Given the description of an element on the screen output the (x, y) to click on. 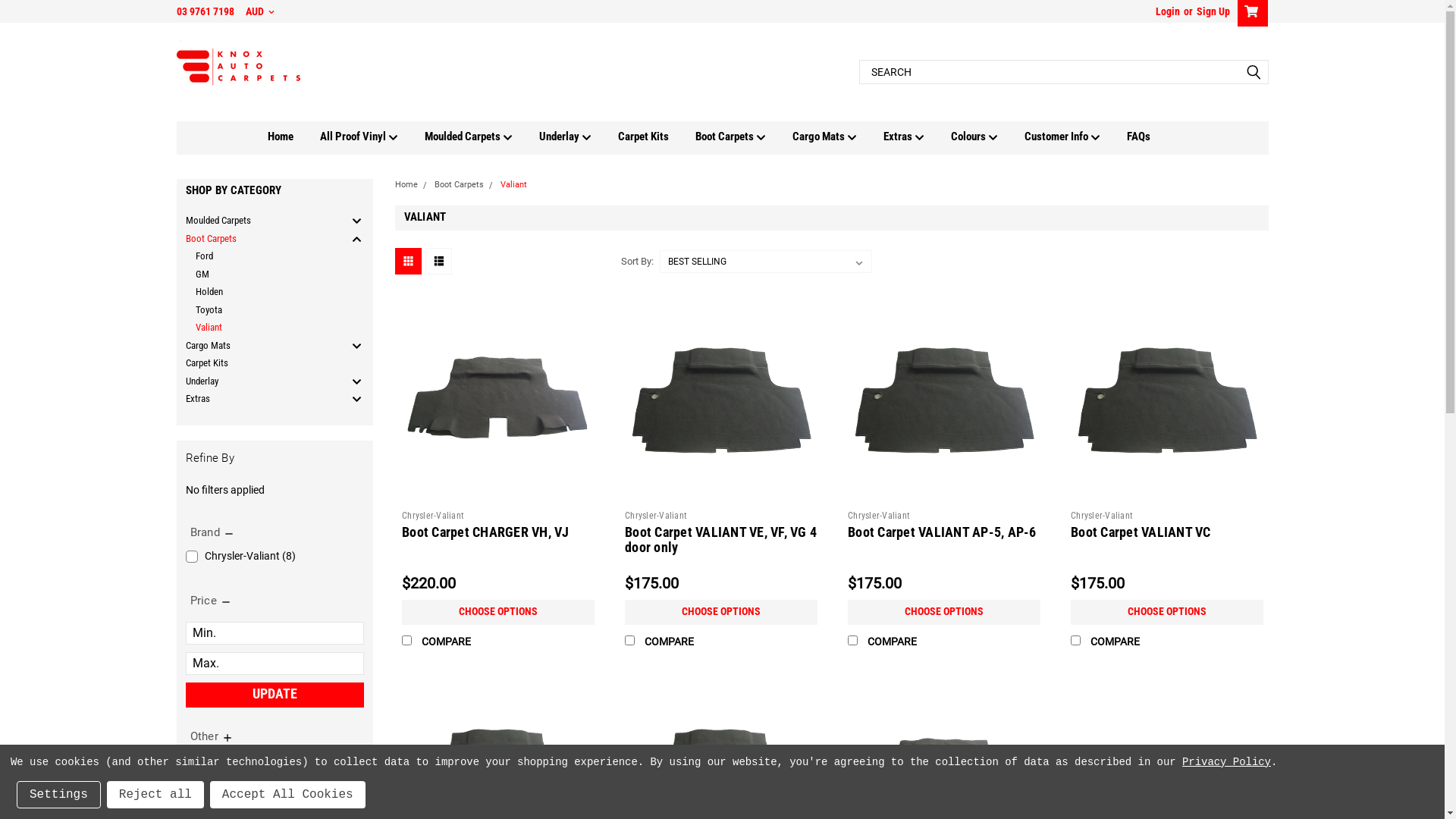
Chrysler-Valiant Element type: text (1101, 514)
Cargo Mats Element type: text (837, 136)
Valiant Element type: text (513, 184)
Privacy Policy Element type: text (1226, 762)
Chrysler-Valiant Element type: text (432, 514)
Boot Carpet CHARGER VH, VJ Element type: hover (498, 399)
Accept All Cookies Element type: text (287, 794)
Home Element type: text (293, 136)
Chrysler-Valiant (8) Element type: text (274, 556)
Ford Element type: text (258, 256)
Price Element type: text (210, 600)
Customer Info Element type: text (1075, 136)
Boot Carpets Element type: text (258, 238)
Boot Carpet VALIANT VH VK & VJ Element type: hover (1167, 780)
Boot Carpet VALIANT AP-5, AP-6 Element type: text (941, 531)
Boot Carpet VALIANT VE, VF, VG 4 door only Element type: text (720, 539)
Underlay Element type: text (258, 380)
GM Element type: text (258, 274)
Sign Up Element type: text (1210, 11)
Boot Carpet VALIANT AP-5, AP-6 Element type: hover (944, 399)
Login Element type: text (1167, 11)
Chrysler-Valiant Element type: text (655, 514)
Colours Element type: text (987, 136)
Extras Element type: text (258, 398)
Moulded Carpets Element type: text (481, 136)
Toyota Element type: text (258, 309)
Extras Element type: text (916, 136)
AUD Element type: text (259, 11)
CHOOSE OPTIONS Element type: text (1166, 611)
All Proof Vinyl Element type: text (372, 136)
Boot Carpet VALIANT VE, VF, VG 4 door only Element type: hover (721, 399)
Brand Element type: text (212, 532)
Reject all Element type: text (154, 794)
FAQs Element type: text (1151, 136)
Knox Auto Carpets PTY LTD Element type: hover (239, 71)
Boot Carpet VALIANT VC Element type: hover (1166, 399)
Carpet Kits Element type: text (258, 363)
Chrysler-Valiant Element type: text (878, 514)
Boot Carpets Element type: text (458, 184)
Settings Element type: text (58, 794)
Underlay Element type: text (578, 136)
Holden Element type: text (258, 291)
UPDATE Element type: text (274, 694)
CHOOSE OPTIONS Element type: text (720, 611)
Cargo Mats Element type: text (258, 345)
Boot Carpet VALIANT VC Element type: text (1140, 531)
Boot Carpets Element type: text (743, 136)
CHOOSE OPTIONS Element type: text (497, 611)
Home Element type: text (405, 184)
Boot Carpet CHARGER VH, VJ Element type: text (485, 531)
submit Element type: hover (1252, 71)
Carpet Kits Element type: text (656, 136)
CHOOSE OPTIONS Element type: text (943, 611)
Other Element type: text (211, 736)
Valiant Element type: text (258, 327)
Moulded Carpets Element type: text (258, 220)
